Given the description of an element on the screen output the (x, y) to click on. 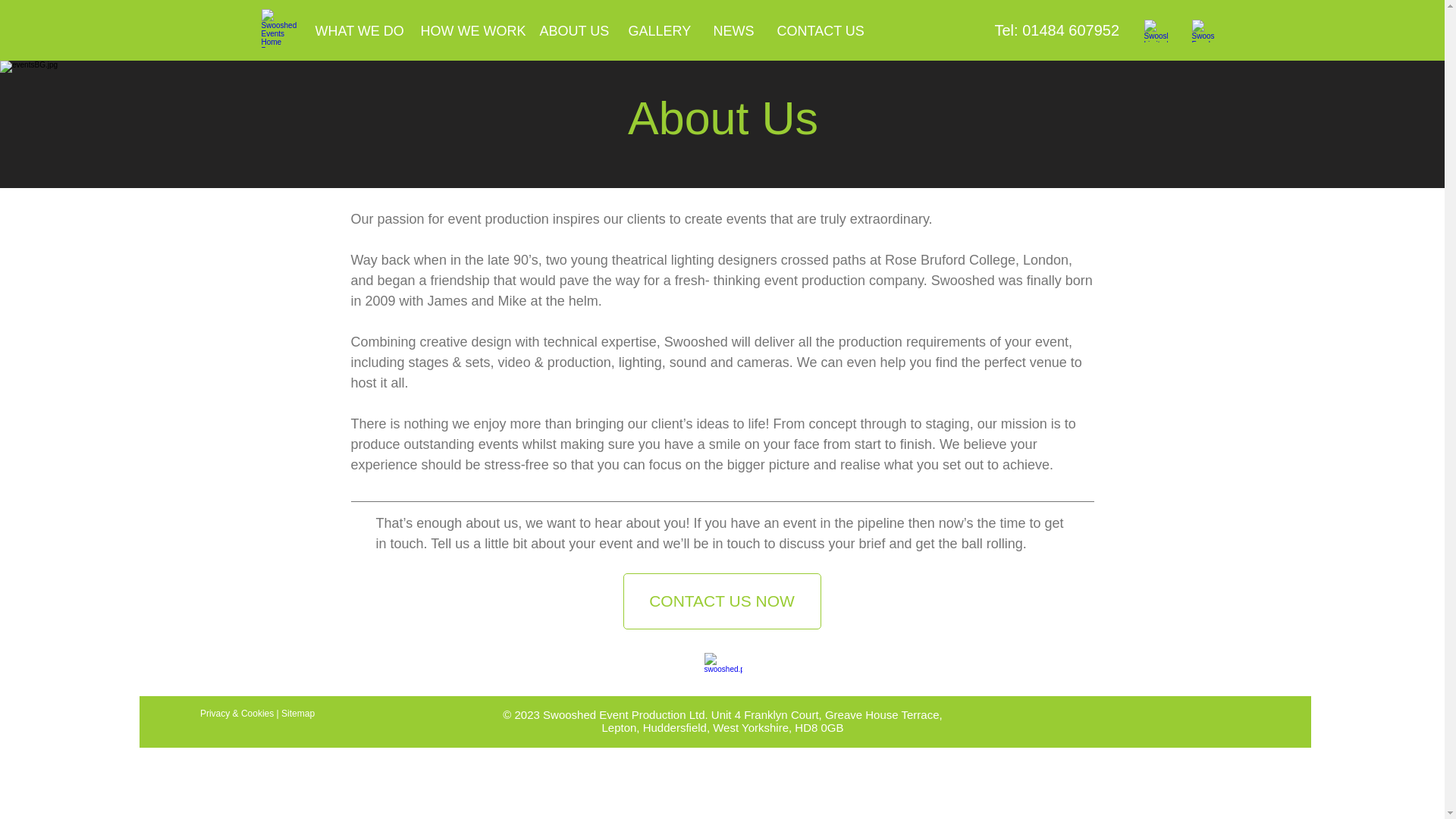
CONTACT US (819, 30)
NEWS (733, 30)
GALLERY (658, 30)
CONTACT US NOW (722, 601)
Check out our latest news here. (1203, 30)
Sitemap (297, 713)
ABOUT US (575, 30)
Check out our latest news here. (1154, 30)
WHAT WE DO  (361, 30)
Click here to go to our home page (279, 28)
